Given the description of an element on the screen output the (x, y) to click on. 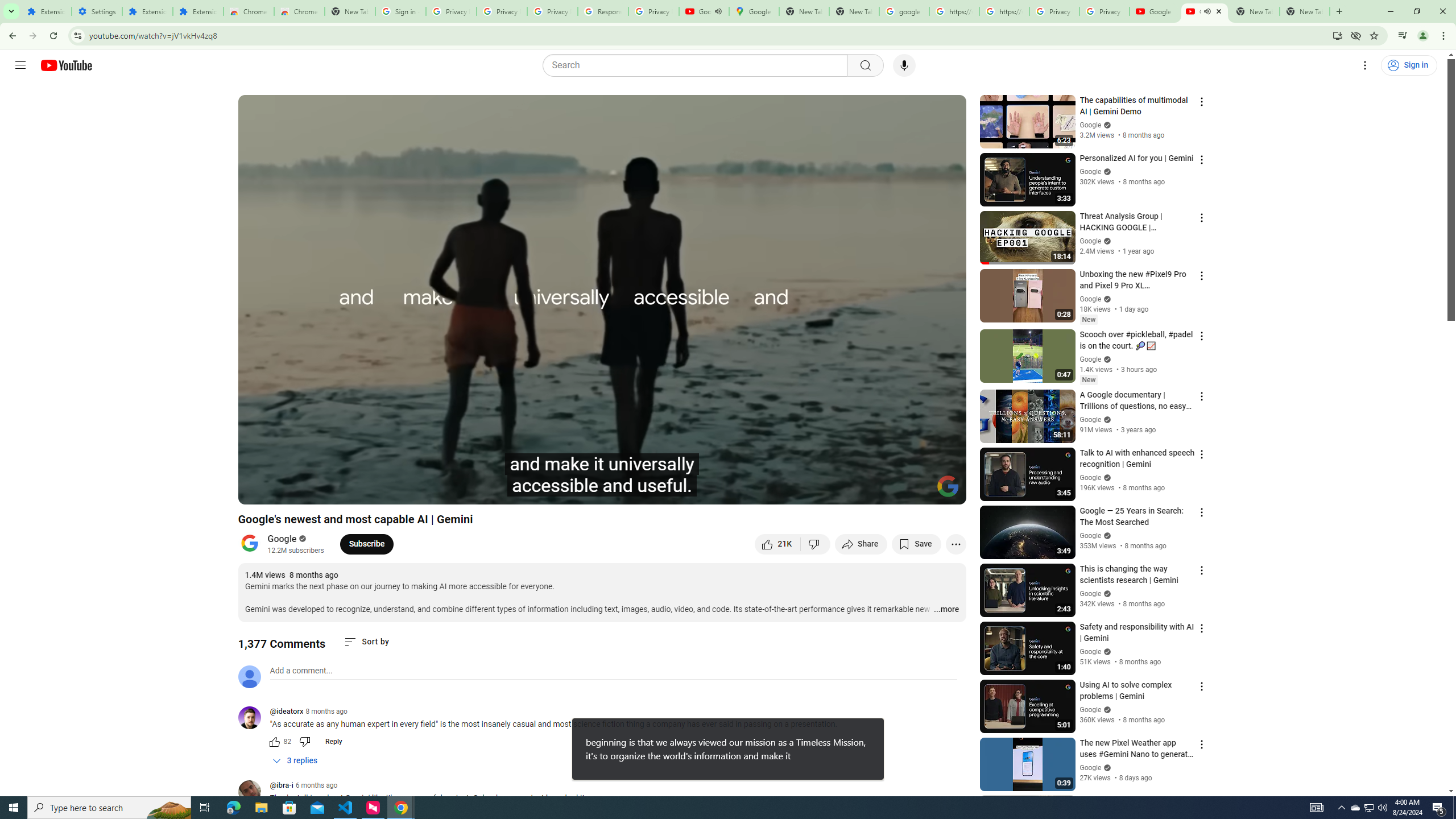
Settings (97, 11)
Sign in (1408, 64)
Google (282, 538)
Reply (333, 741)
Like this comment along with 82 other people (273, 741)
Extensions (46, 11)
Save to playlist (915, 543)
